Given the description of an element on the screen output the (x, y) to click on. 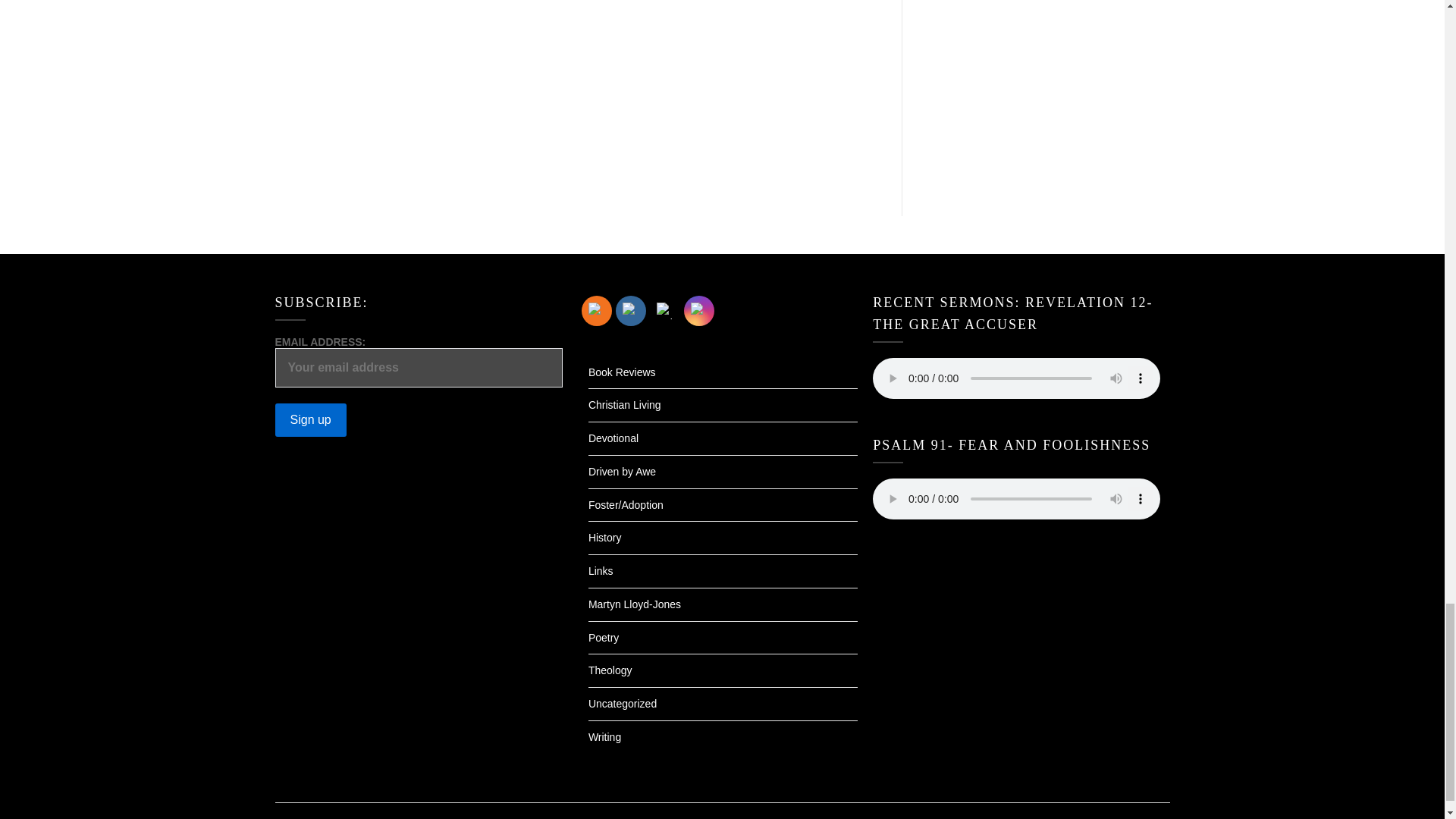
Facebook (631, 310)
Sign up (310, 419)
RSS (596, 310)
